Given the description of an element on the screen output the (x, y) to click on. 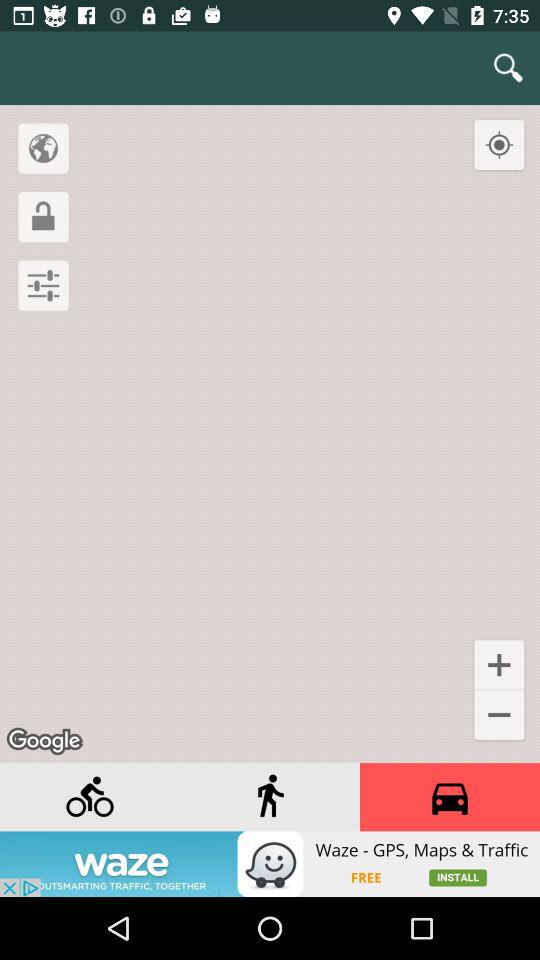
man on bicycle icon (90, 797)
